Given the description of an element on the screen output the (x, y) to click on. 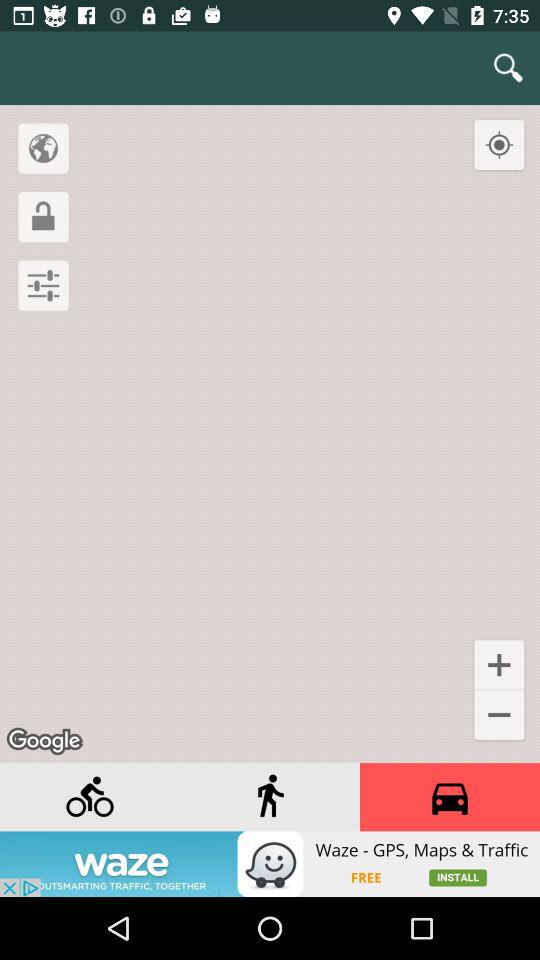
man on bicycle icon (90, 797)
